Given the description of an element on the screen output the (x, y) to click on. 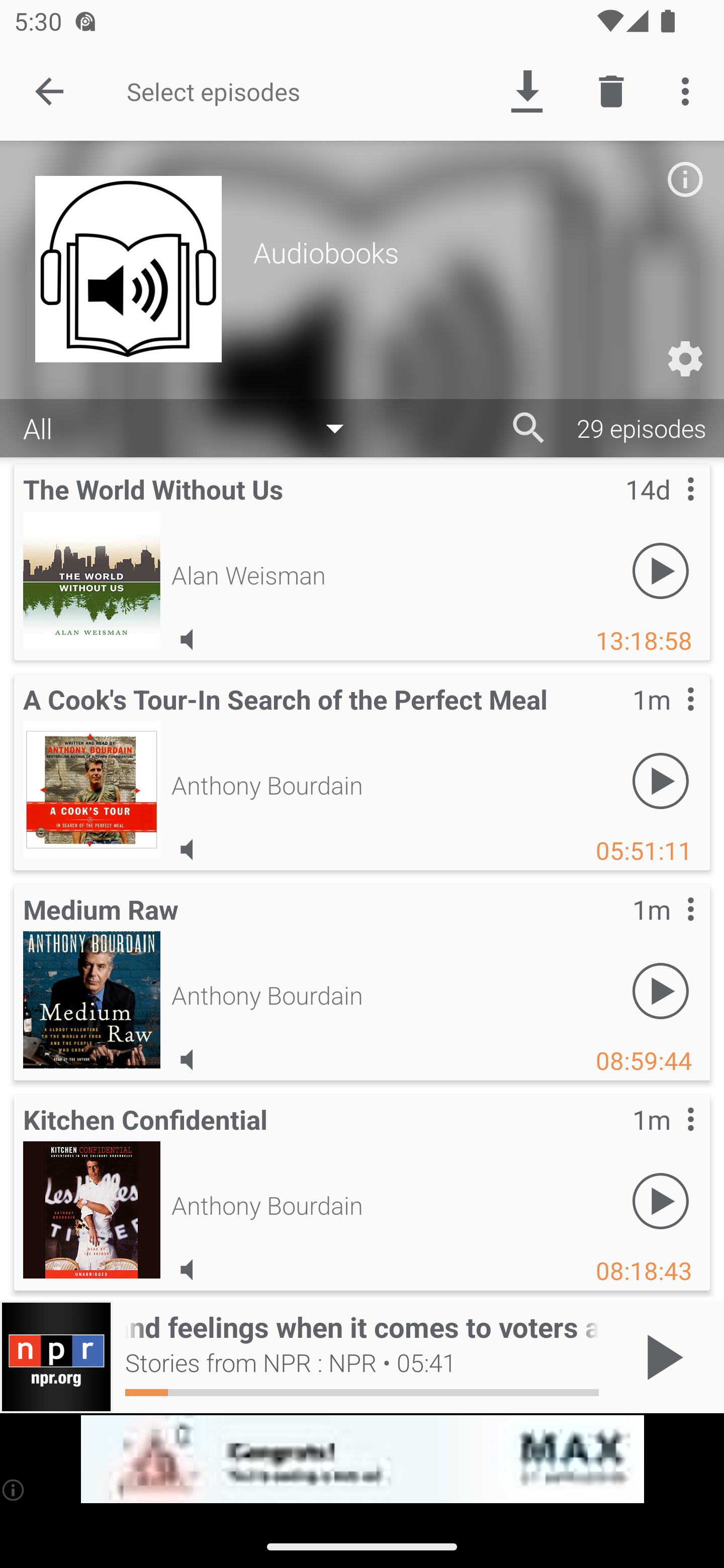
Done (49, 90)
Download (526, 90)
Delete episode (611, 90)
More options (688, 90)
Podcast description (685, 179)
Custom Settings (685, 358)
Search (528, 428)
All (192, 428)
Contextual menu (668, 508)
The World Without Us (91, 579)
Play (660, 571)
Contextual menu (668, 718)
A Cook's Tour-In Search of the Perfect Meal (91, 789)
Play (660, 780)
Contextual menu (668, 928)
Medium Raw (91, 999)
Play (660, 990)
Contextual menu (668, 1138)
Kitchen Confidential (91, 1209)
Play (660, 1200)
Play / Pause (660, 1356)
app-monetization (362, 1459)
(i) (14, 1489)
